Given the description of an element on the screen output the (x, y) to click on. 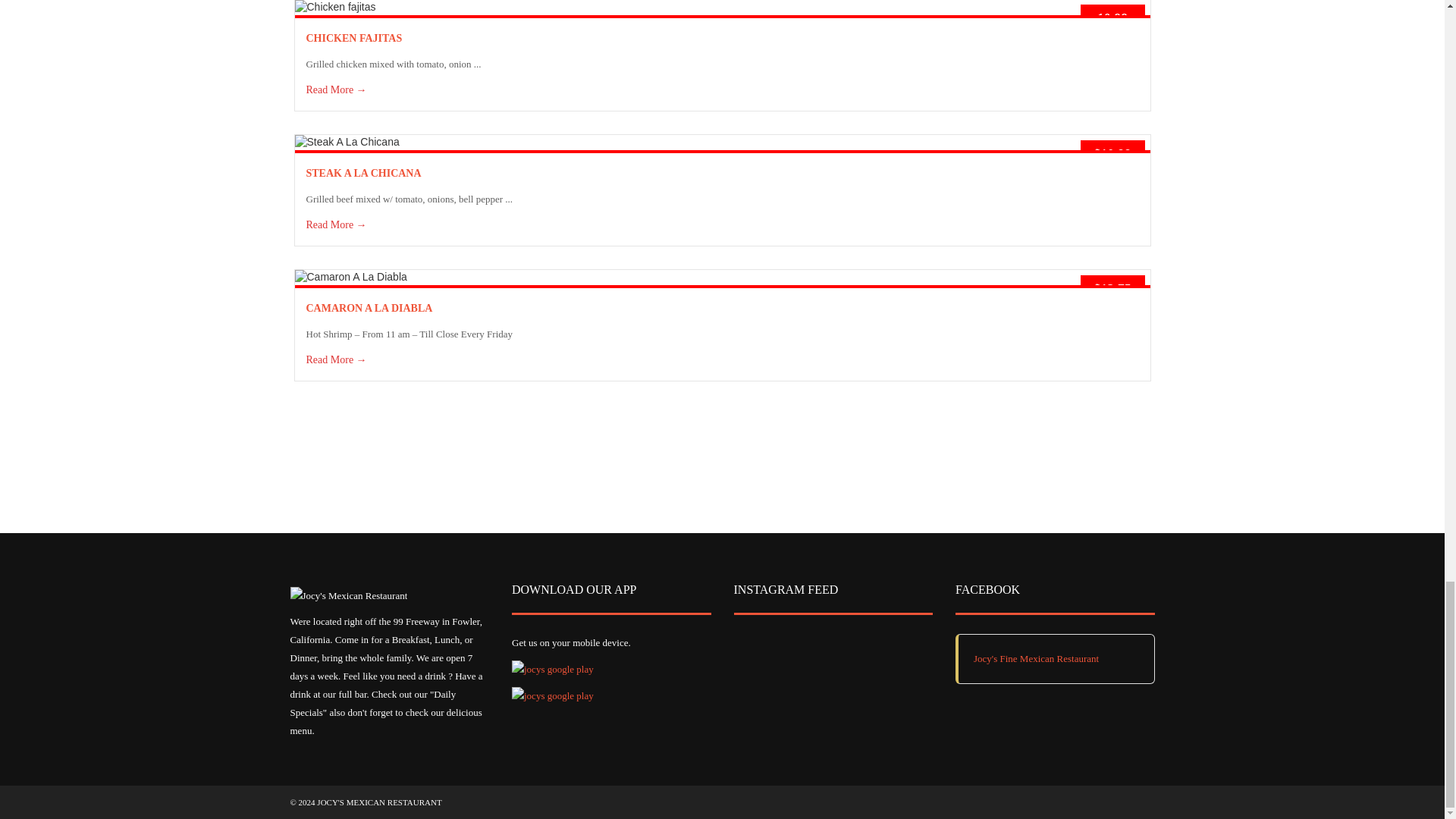
CHICKEN FAJITAS (354, 38)
Jocy's Fine Mexican Restaurant (1036, 658)
CAMARON A LA DIABLA (368, 307)
STEAK A LA CHICANA (363, 173)
